Given the description of an element on the screen output the (x, y) to click on. 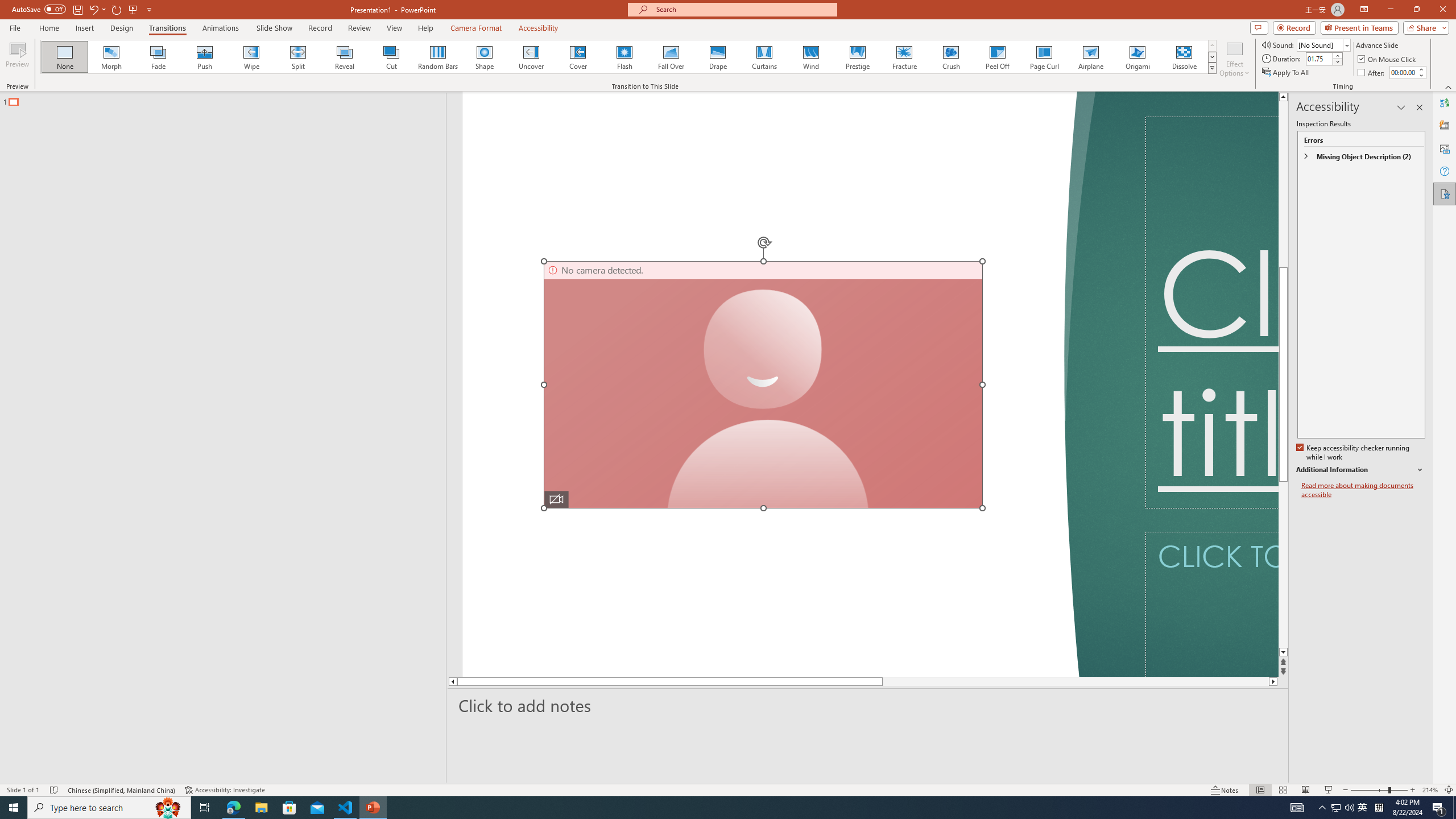
Shape (484, 56)
AutoSave (38, 9)
Zoom to Fit  (1449, 790)
Open (1345, 44)
Fall Over (670, 56)
From Beginning (133, 9)
Peel Off (997, 56)
Alt Text (1444, 147)
Row Down (1212, 56)
Minimize (1390, 9)
Zoom In (1412, 790)
Uncover (531, 56)
Share (1423, 27)
Curtains (764, 56)
Undo (92, 9)
